Given the description of an element on the screen output the (x, y) to click on. 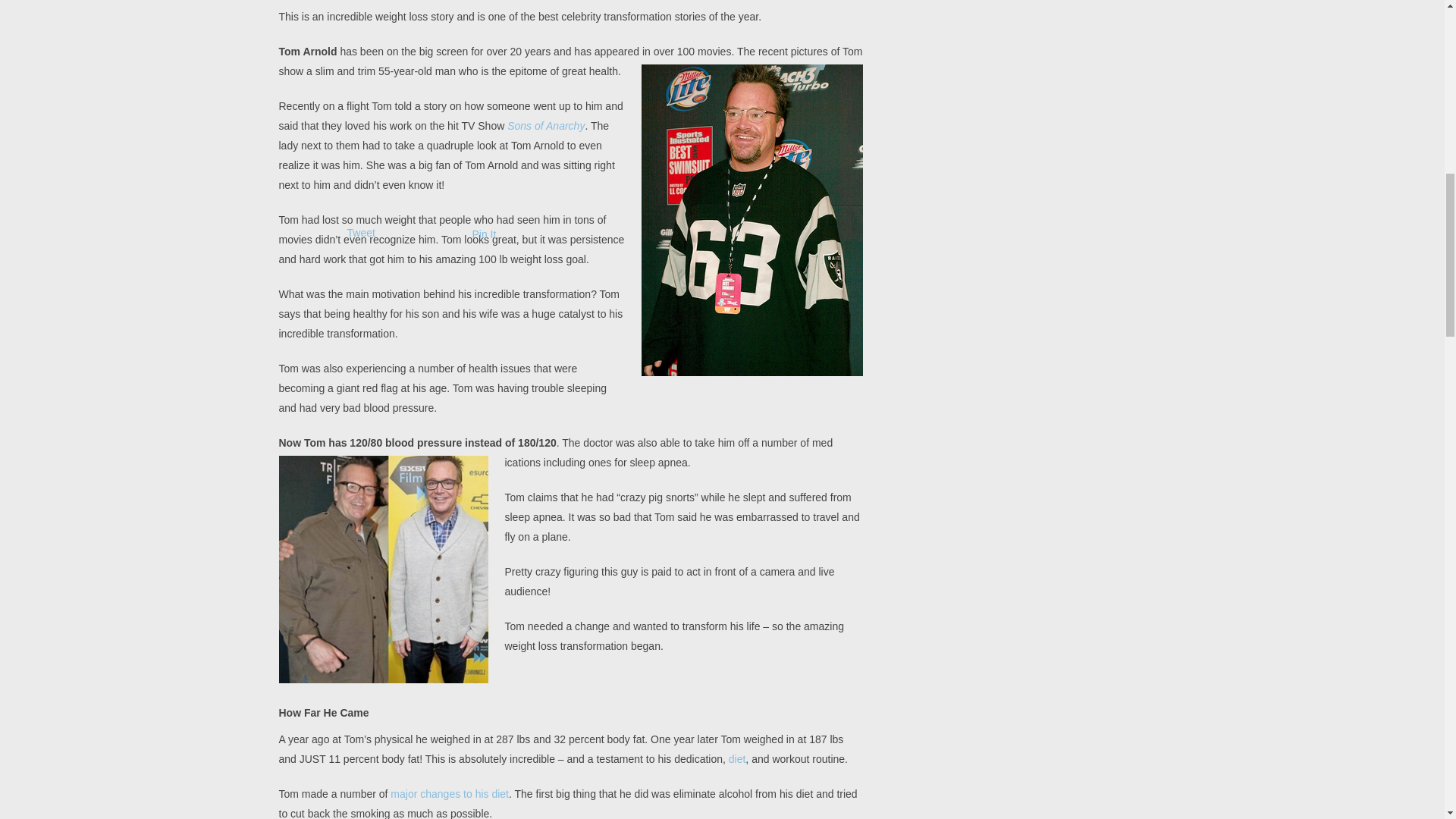
Sons of Anarchy (545, 125)
major changes to his diet (449, 793)
diet (737, 758)
